Given the description of an element on the screen output the (x, y) to click on. 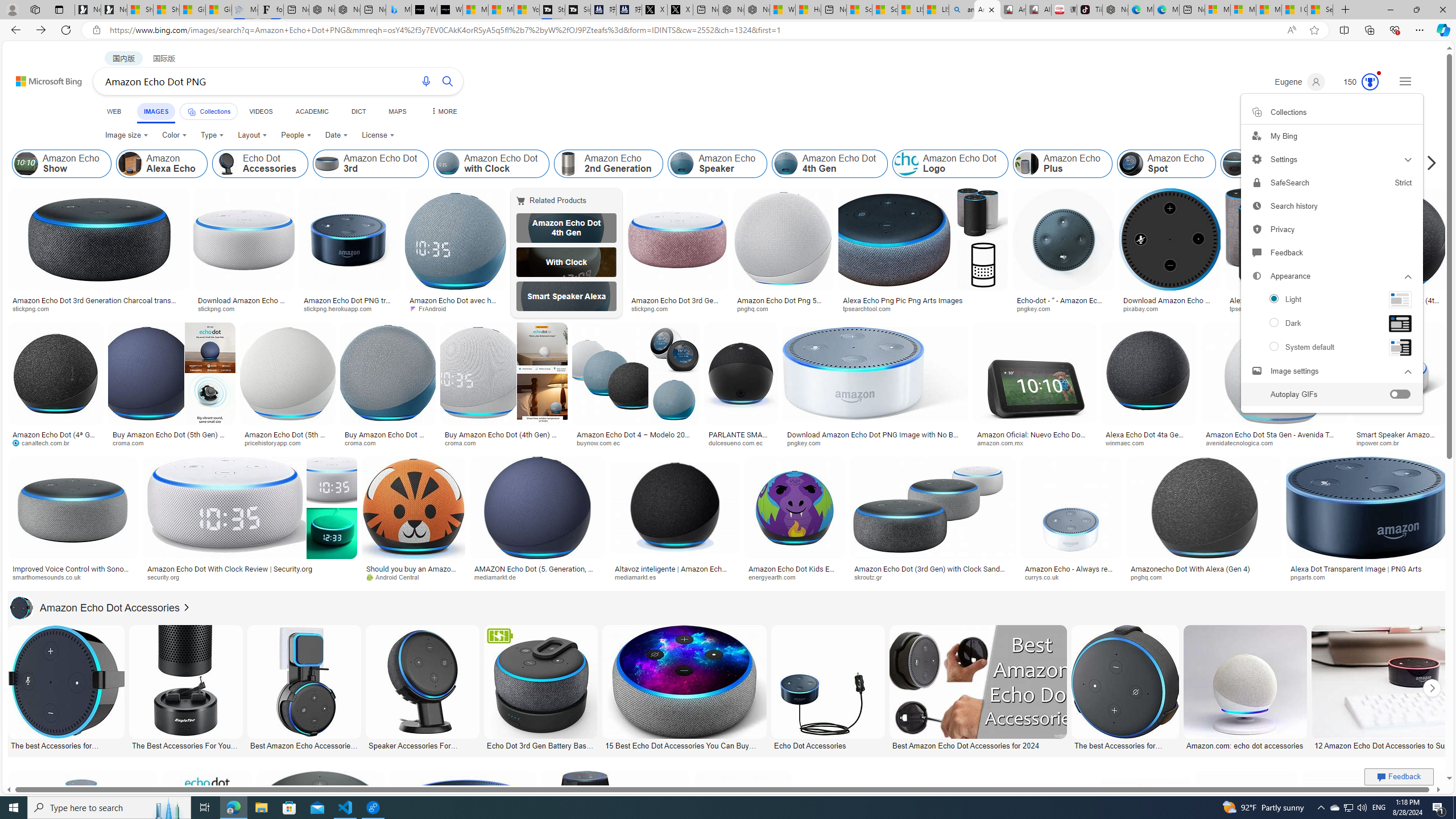
Back to Bing search (41, 78)
Microsoft account | Privacy (1242, 9)
energyearth.com (794, 576)
ACADEMIC (311, 111)
